Given the description of an element on the screen output the (x, y) to click on. 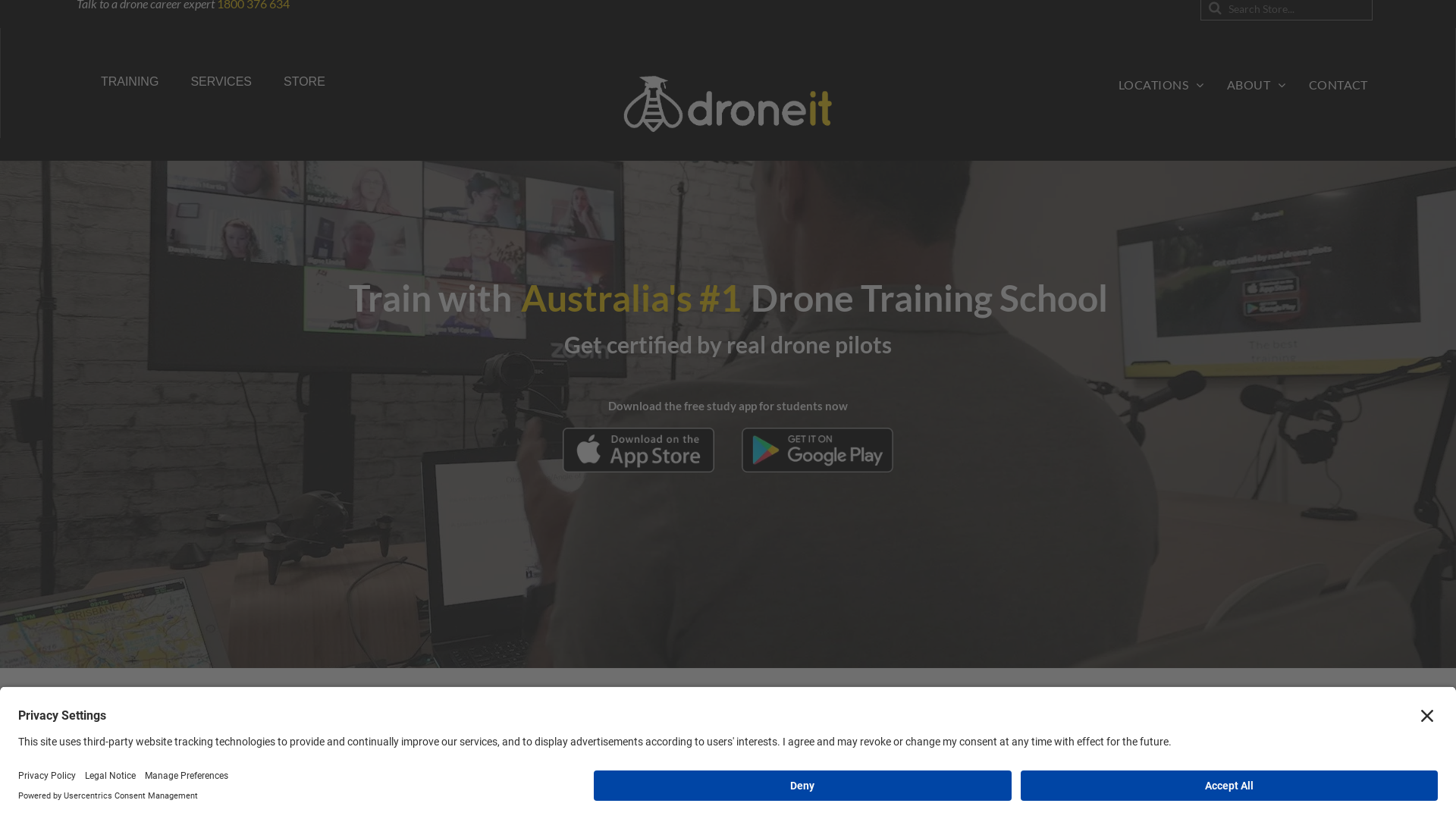
TRAINING Element type: text (129, 81)
LOCATIONS Element type: text (1161, 84)
SERVICES Element type: text (220, 81)
Book & Win 1 of 3 DJI drones + FREE 25kg course upgrade Element type: text (727, 798)
STORE Element type: text (304, 81)
ABOUT Element type: text (1256, 84)
CONTACT Element type: text (1338, 84)
